Given the description of an element on the screen output the (x, y) to click on. 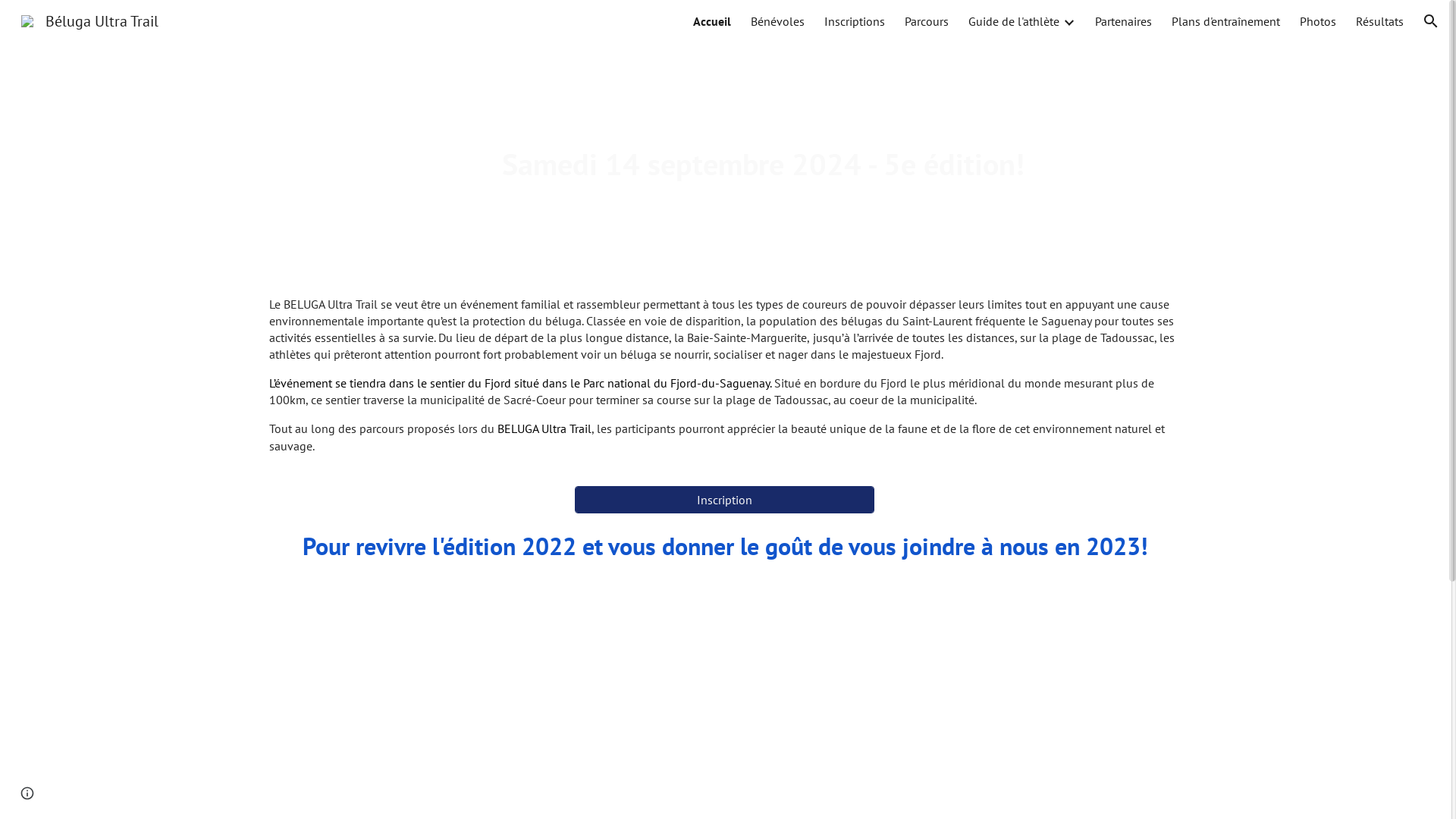
Inscription Element type: text (724, 499)
Inscriptions Element type: text (854, 20)
Parcours Element type: text (926, 20)
Expand/Collapse Element type: hover (1068, 20)
Accueil Element type: text (712, 20)
Photos Element type: text (1317, 20)
Partenaires Element type: text (1123, 20)
